Given the description of an element on the screen output the (x, y) to click on. 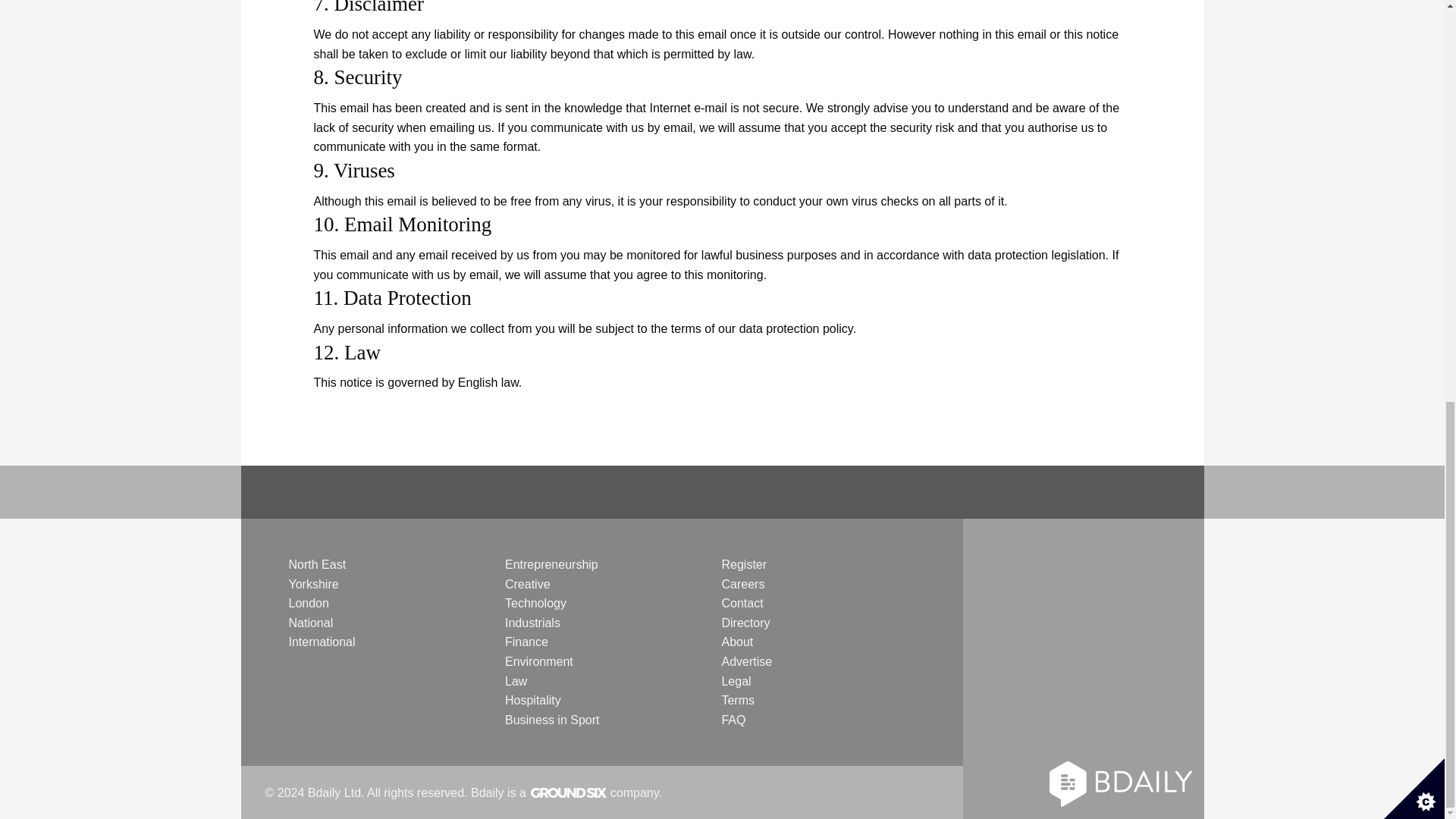
Law (516, 680)
International (321, 641)
Advertise (745, 661)
Terms (737, 699)
National (310, 622)
London (308, 603)
Hospitality (532, 699)
Business in Sport (552, 719)
Finance (526, 641)
Technology (535, 603)
